Given the description of an element on the screen output the (x, y) to click on. 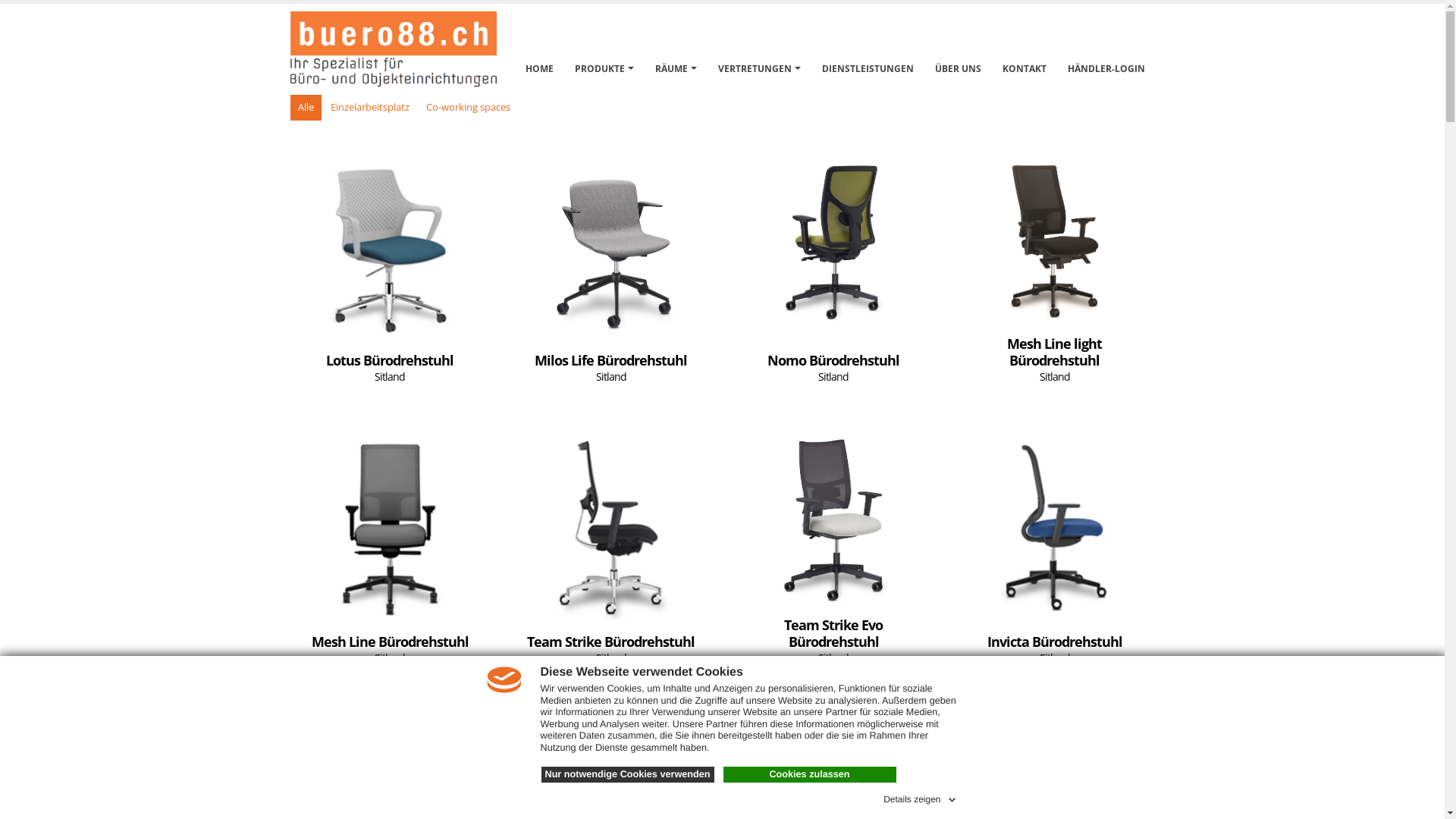
Nur notwendige Cookies verwenden Element type: text (627, 774)
Details zeigen Element type: text (920, 796)
Co-working spaces Element type: text (467, 107)
Alle Element type: text (304, 107)
VERTRETUNGEN Element type: text (759, 53)
Einzelarbeitsplatz Element type: text (370, 107)
PRODUKTE Element type: text (603, 53)
HOME Element type: text (539, 53)
Cookies zulassen Element type: text (809, 774)
DIENSTLEISTUNGEN Element type: text (866, 53)
KONTAKT Element type: text (1023, 53)
